Given the description of an element on the screen output the (x, y) to click on. 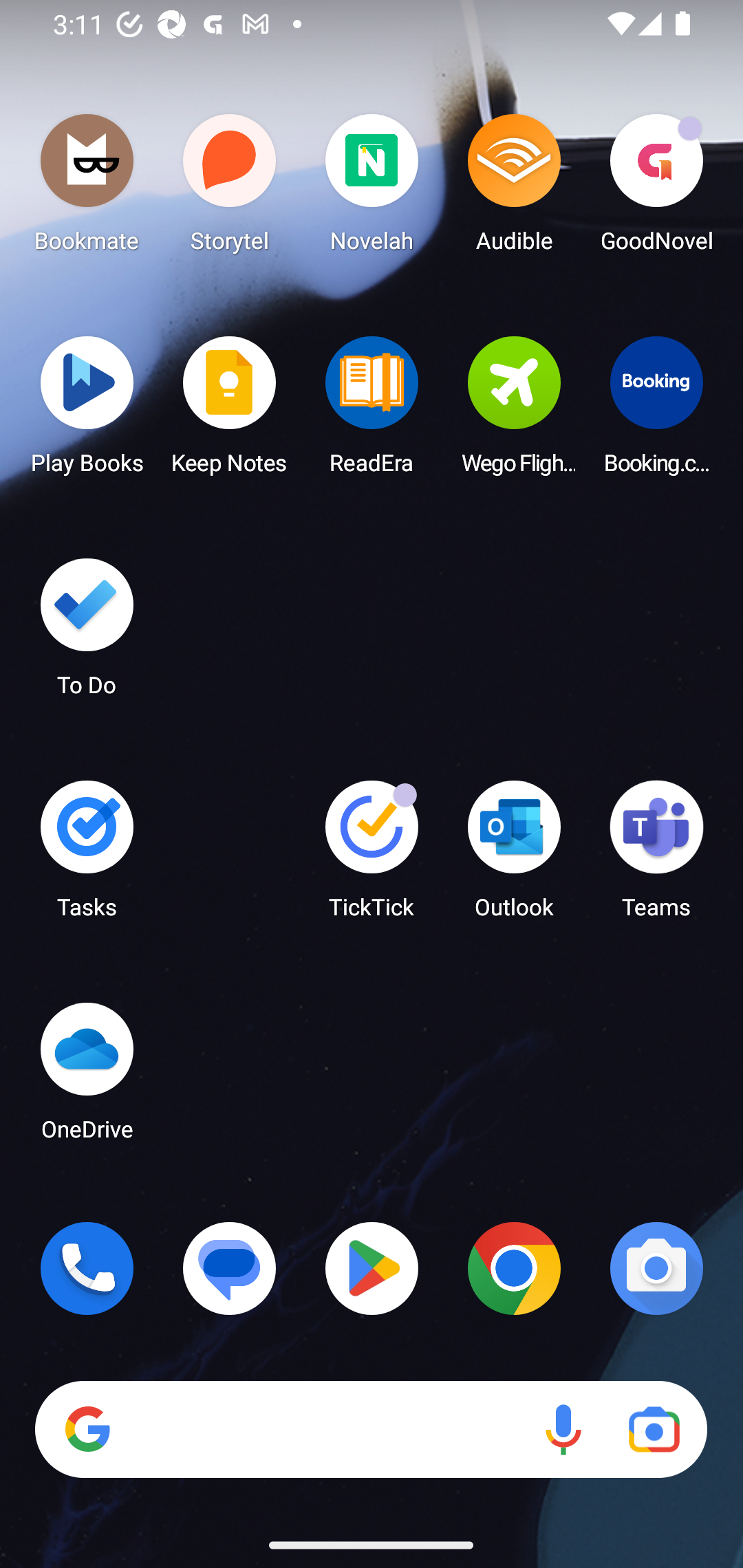
Bookmate (86, 188)
Storytel (229, 188)
Novelah (371, 188)
Audible (513, 188)
GoodNovel GoodNovel has 1 notification (656, 188)
Play Books (86, 410)
Keep Notes (229, 410)
ReadEra (371, 410)
Wego Flights & Hotels (513, 410)
Booking.com (656, 410)
To Do (86, 633)
Tasks (86, 854)
TickTick TickTick has 3 notifications (371, 854)
Outlook (513, 854)
Teams (656, 854)
OneDrive (86, 1076)
Phone (86, 1268)
Messages (229, 1268)
Play Store (371, 1268)
Chrome (513, 1268)
Camera (656, 1268)
Search Voice search Google Lens (370, 1429)
Voice search (562, 1429)
Google Lens (653, 1429)
